Given the description of an element on the screen output the (x, y) to click on. 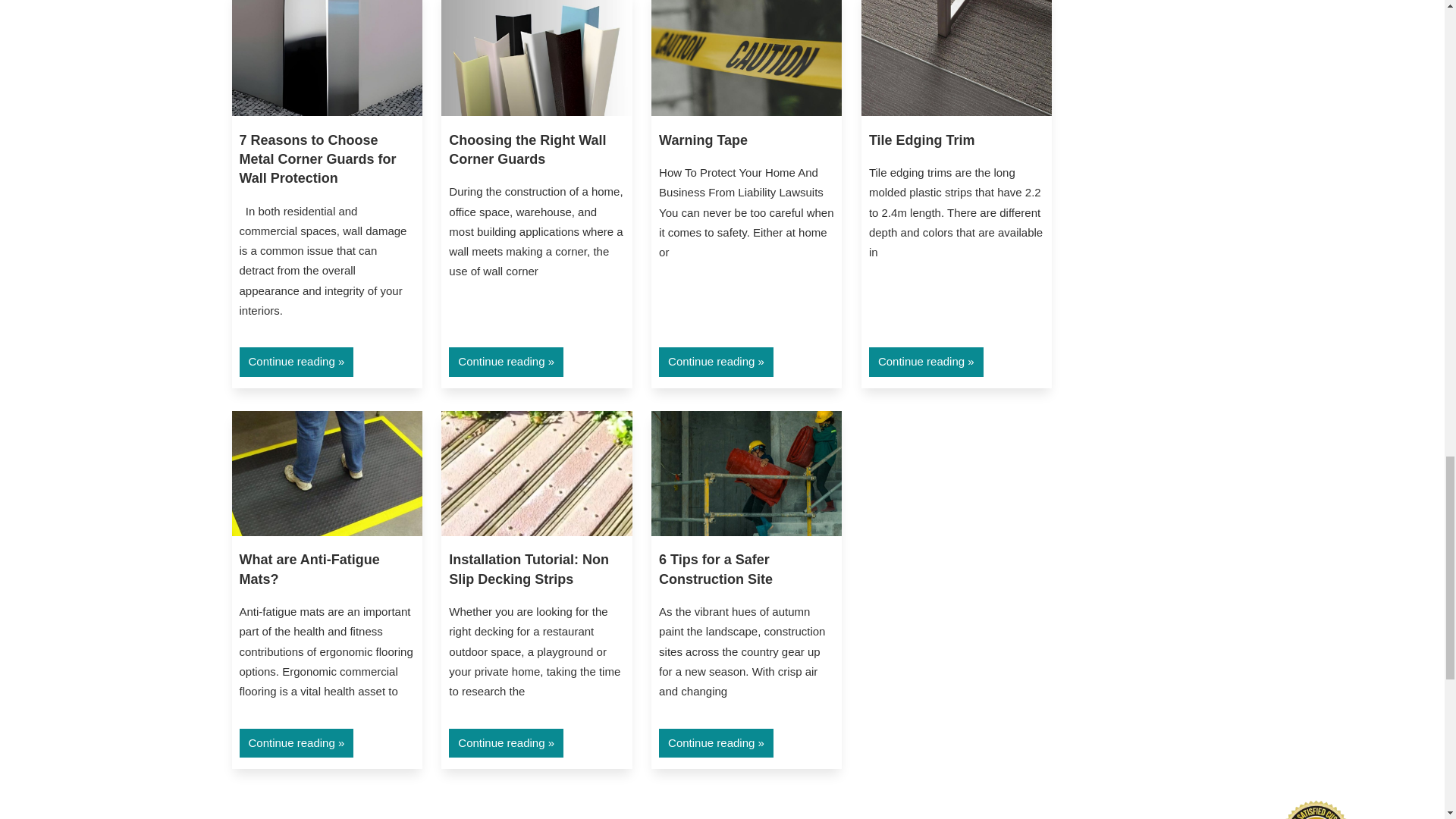
Choosing the Right Wall Corner Guards 32 (536, 58)
Warning Tape 38 (745, 58)
Tile Edging Trim 39 (956, 58)
